Given the description of an element on the screen output the (x, y) to click on. 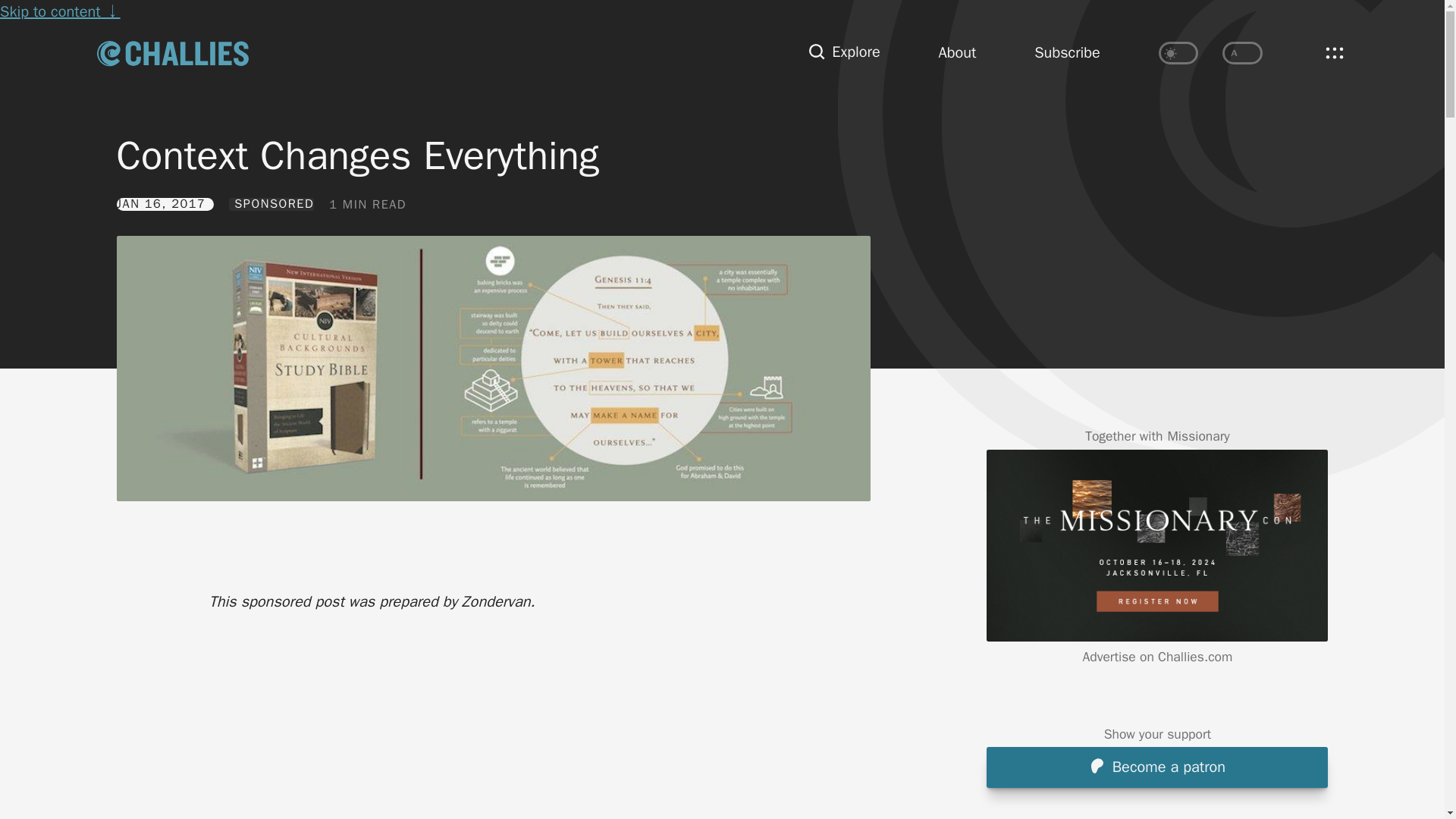
Explore (844, 53)
Open menu (1334, 52)
Subscribe (1066, 52)
Become a patron (1157, 766)
149 words (367, 204)
JAN 16, 2017 (165, 203)
Switch large size (1242, 53)
Missionary (1198, 436)
on (1242, 53)
Switch dark mode (1178, 53)
